Given the description of an element on the screen output the (x, y) to click on. 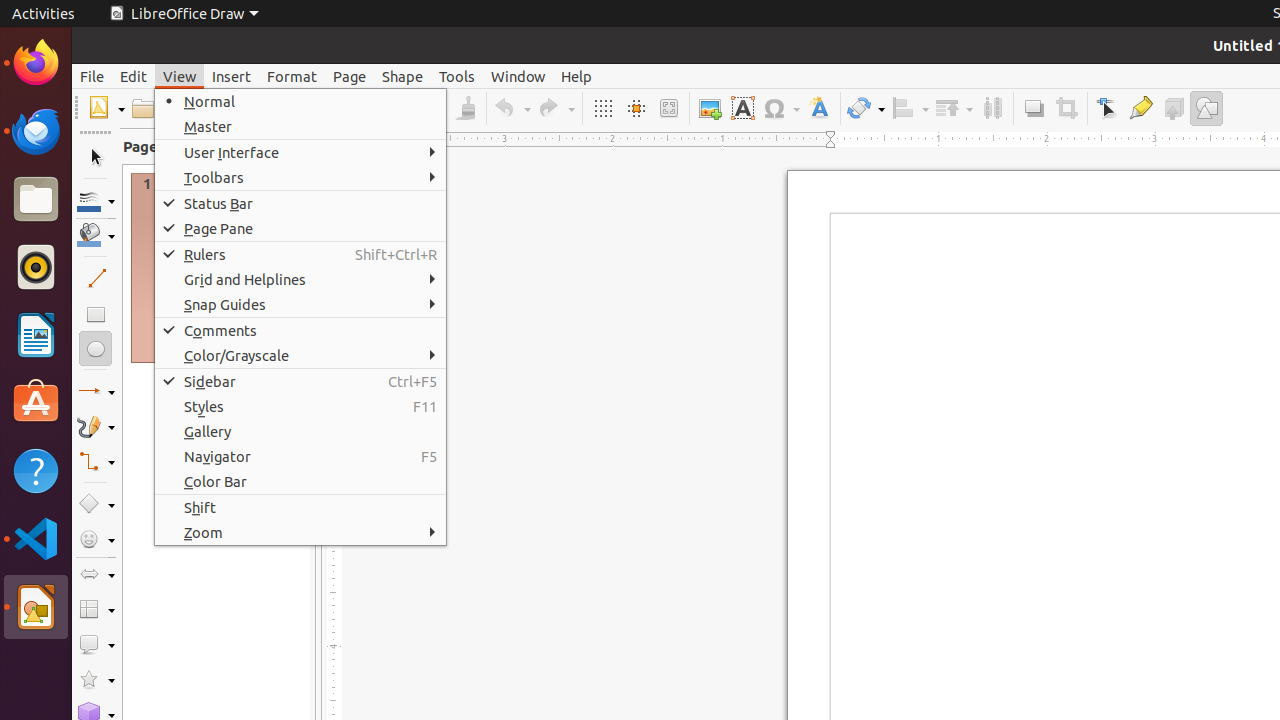
Visual Studio Code Element type: push-button (36, 538)
Page Element type: menu (349, 76)
Grid Element type: toggle-button (602, 108)
Clone Element type: push-button (465, 108)
Align Element type: push-button (910, 108)
